Given the description of an element on the screen output the (x, y) to click on. 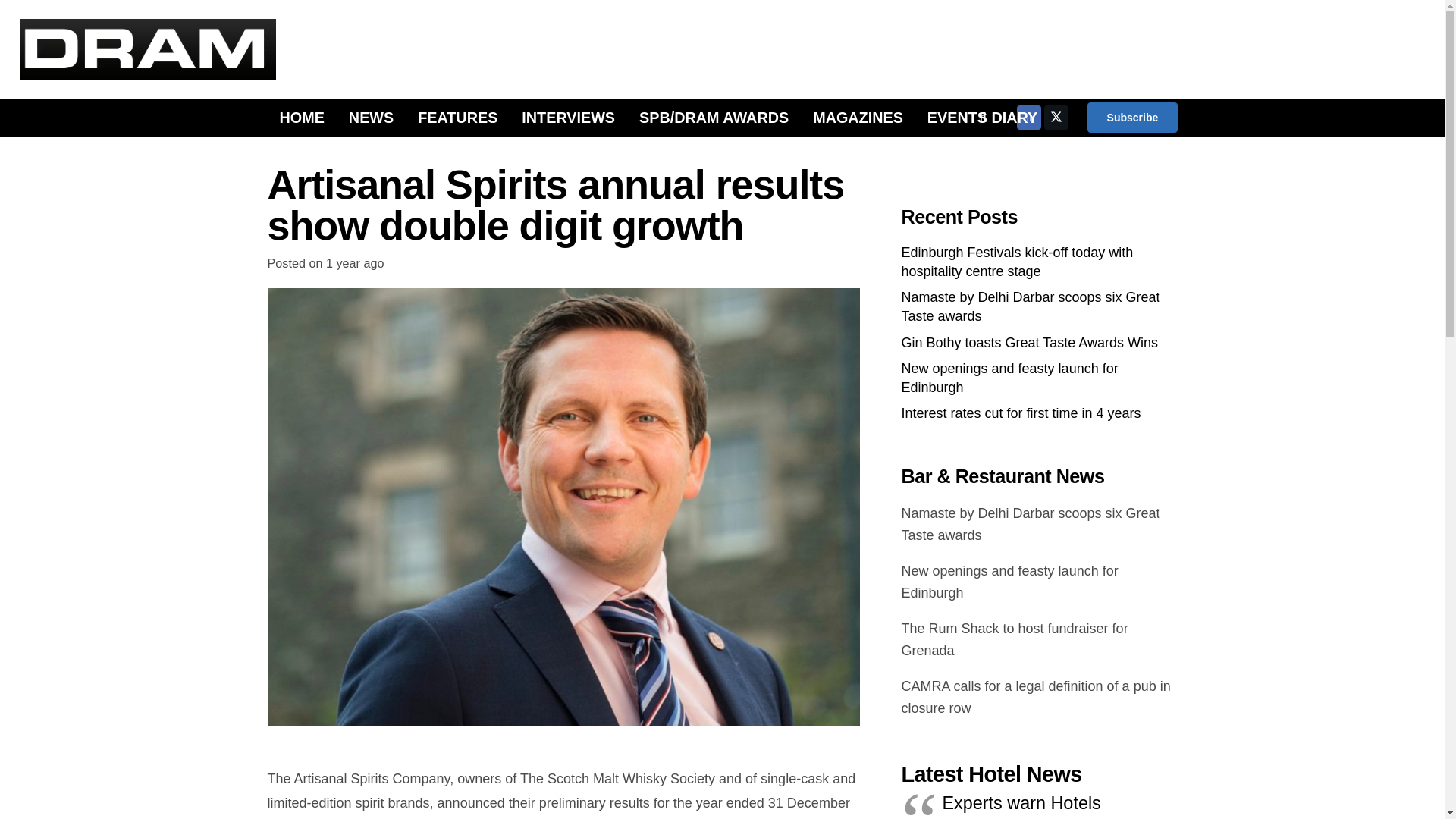
HOME (301, 117)
FEATURES (457, 117)
NEWS (371, 117)
MAGAZINES (857, 117)
Facebook (1028, 117)
EVENTS DIARY (982, 117)
New openings and feasty launch for Edinburgh (1009, 377)
Namaste by Delhi Darbar scoops six Great Taste awards (1029, 306)
Twitter (1055, 117)
Subscribe (1131, 116)
Gin Bothy toasts Great Taste Awards Wins (1029, 342)
INTERVIEWS (568, 117)
